Given the description of an element on the screen output the (x, y) to click on. 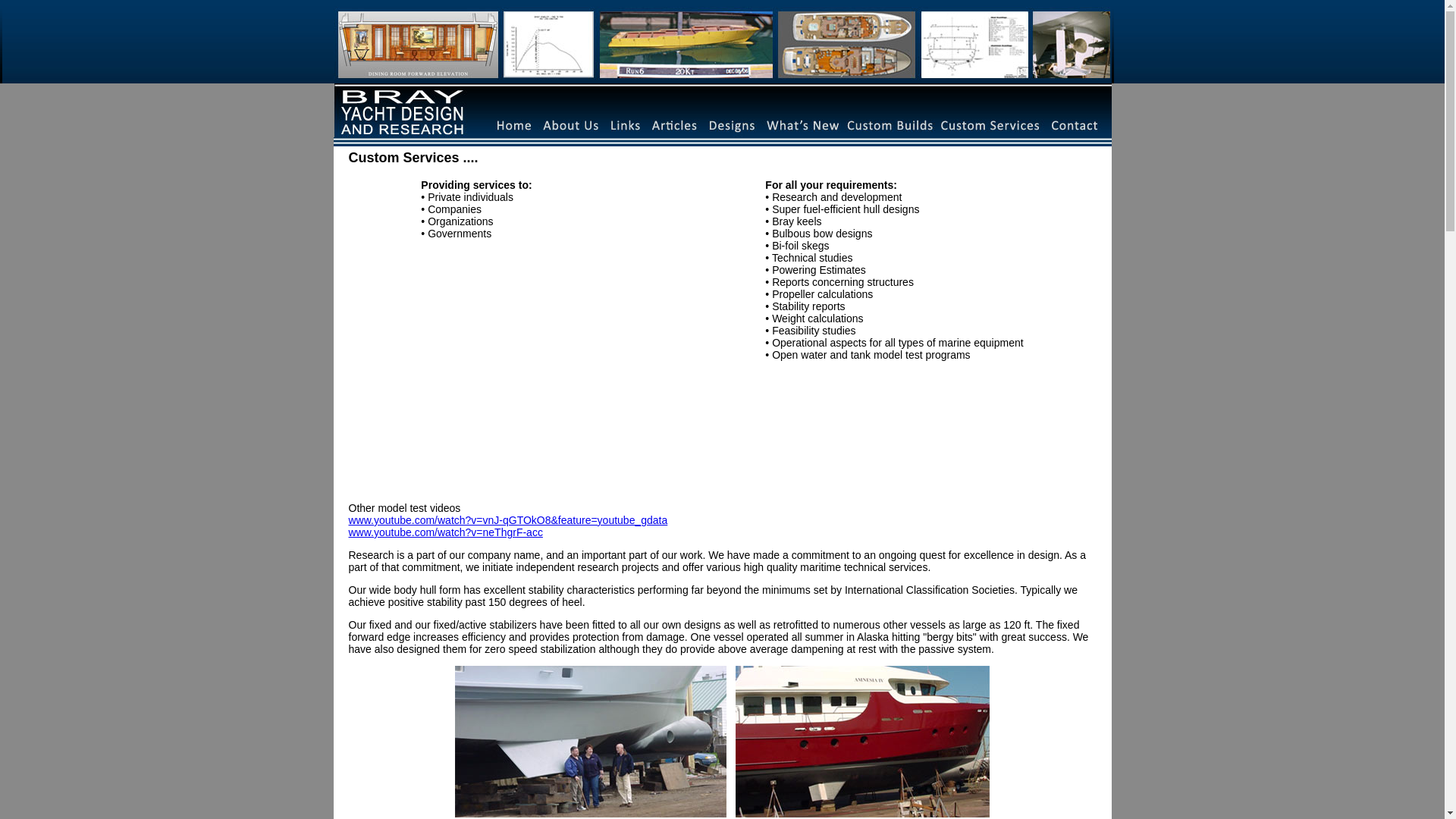
www.youtube.com/watch?v=vnJ-qGTOkO8&feature=youtube_gdata Element type: text (508, 520)
www.youtube.com/watch?v=neThgrF-acc Element type: text (445, 532)
